Given the description of an element on the screen output the (x, y) to click on. 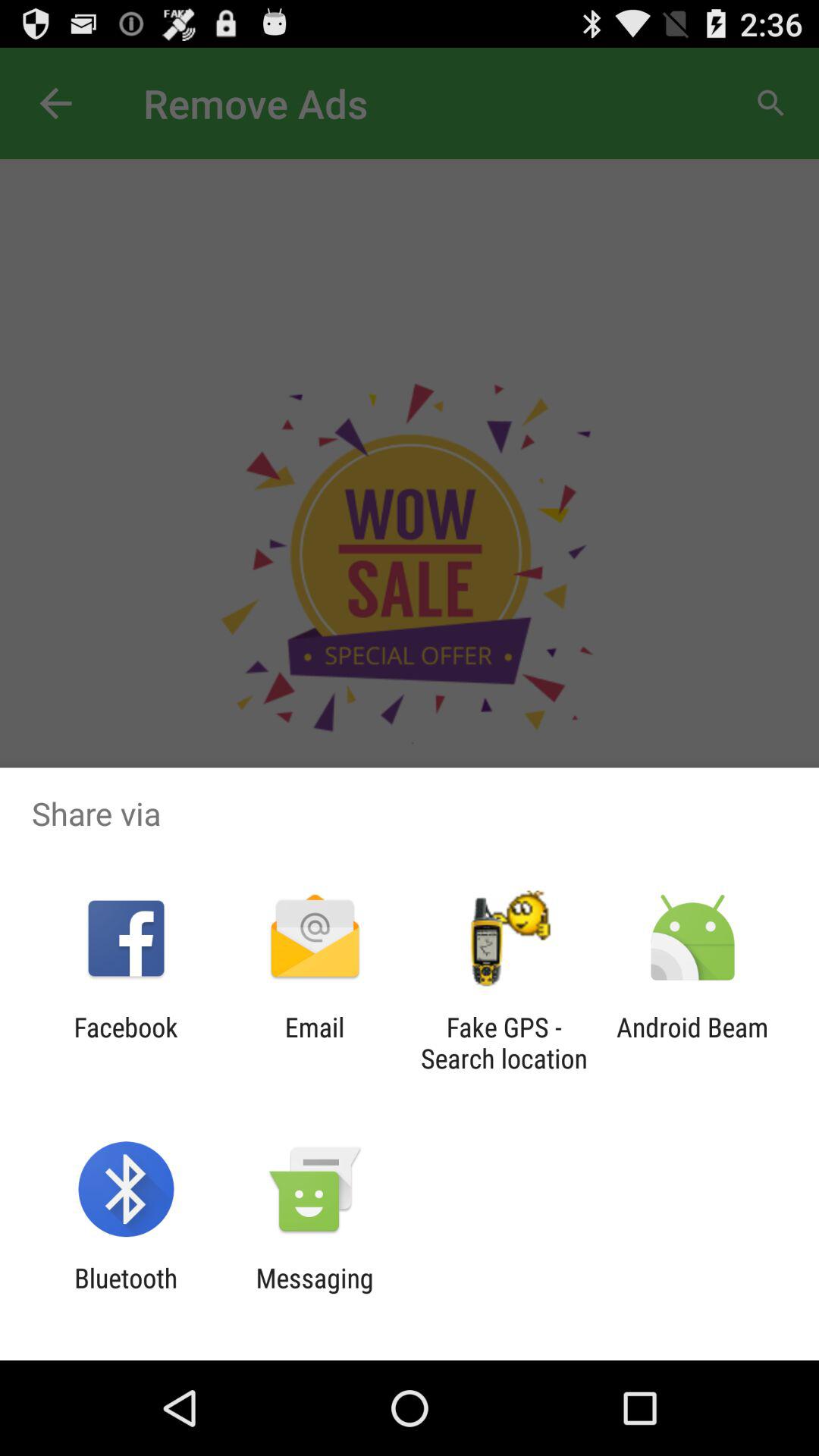
turn on the item to the left of the android beam item (503, 1042)
